Given the description of an element on the screen output the (x, y) to click on. 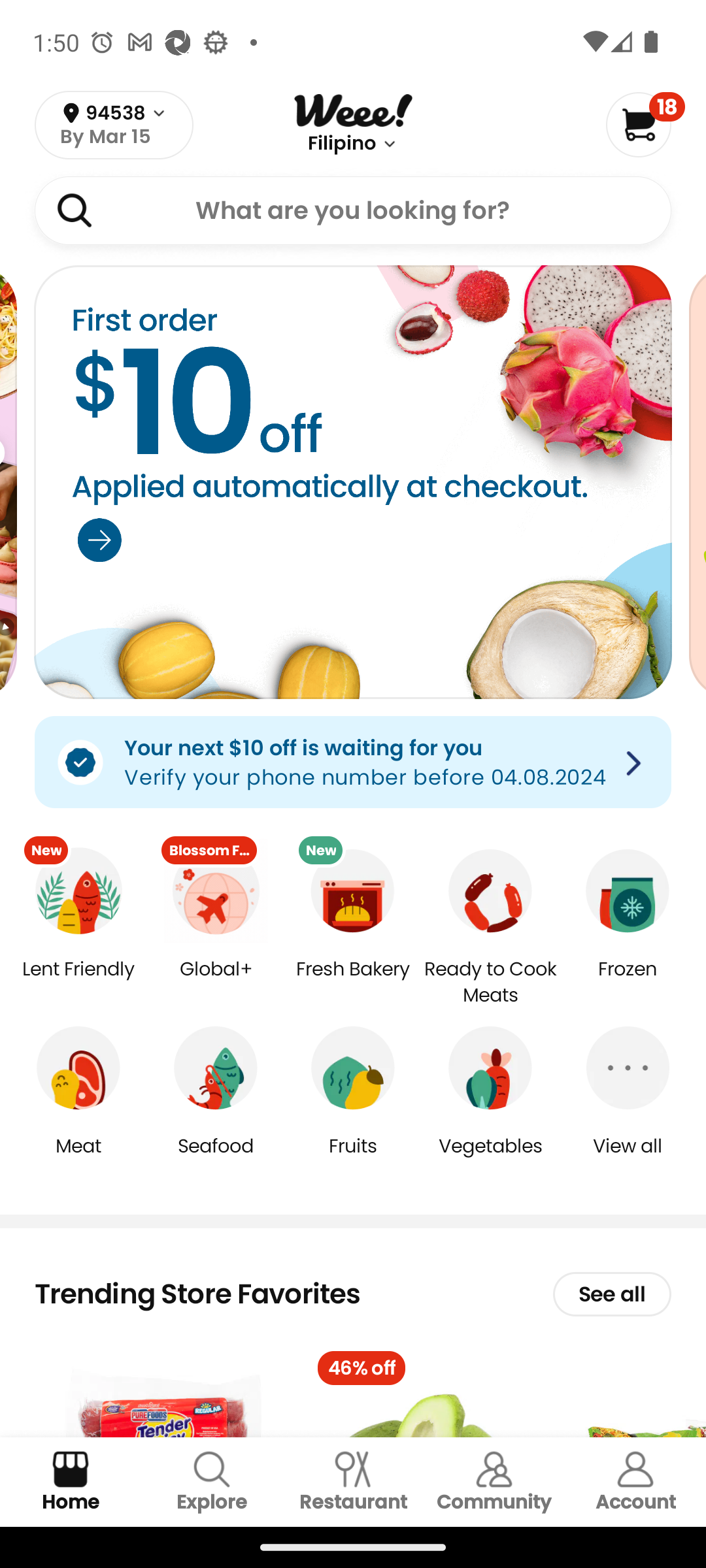
94538 By Mar 15 (113, 124)
18 (644, 124)
Filipino (341, 143)
What are you looking for? (352, 209)
Lent Friendly (77, 982)
Global+ (215, 982)
Fresh Bakery (352, 982)
Ready to Cook Meats (490, 982)
Frozen (627, 982)
Meat (77, 1159)
Seafood (215, 1159)
Fruits (352, 1159)
Vegetables (490, 1159)
View all (627, 1159)
Home (70, 1482)
Explore (211, 1482)
Restaurant (352, 1482)
Community (493, 1482)
Account (635, 1482)
